Given the description of an element on the screen output the (x, y) to click on. 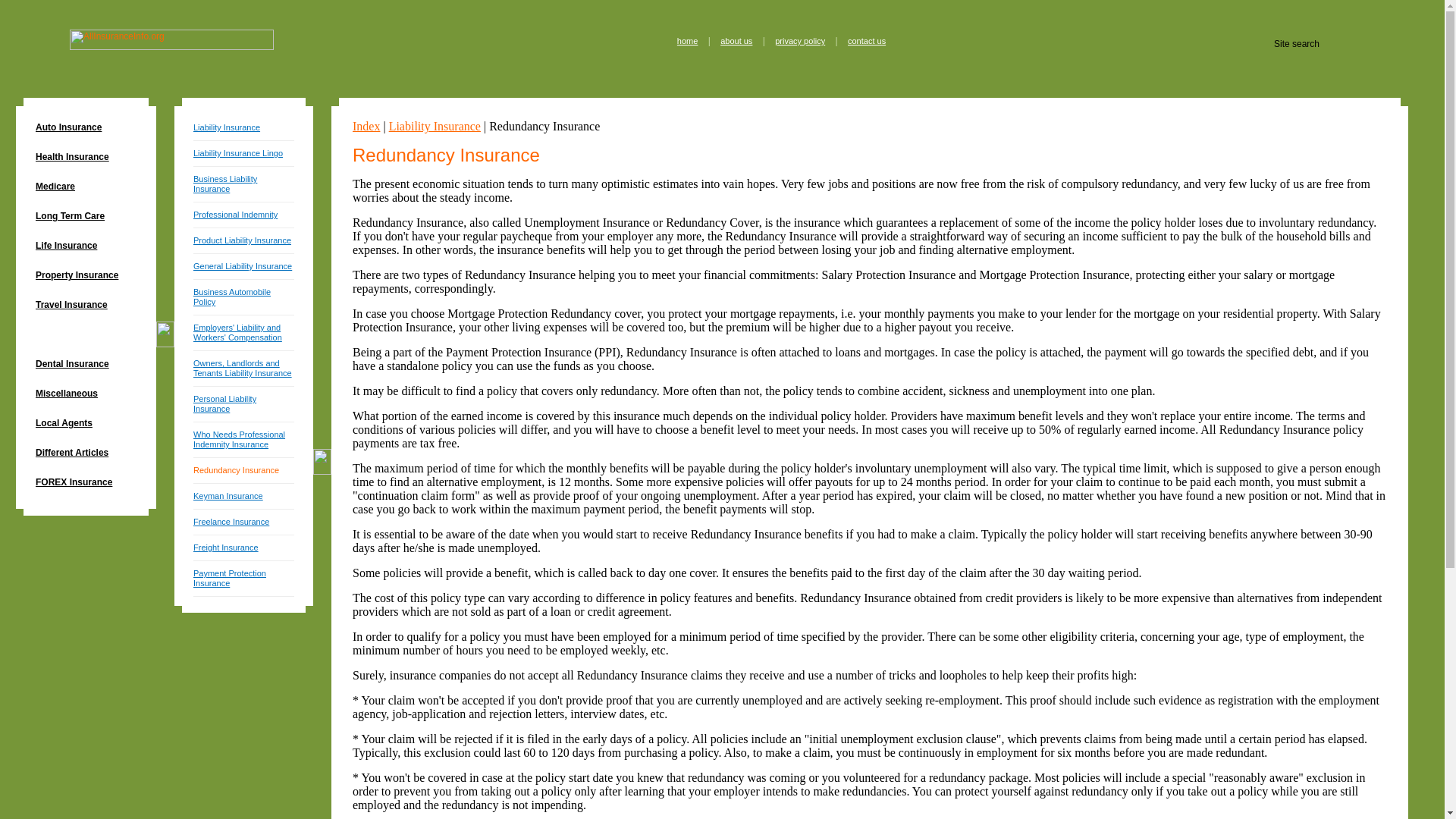
Business Automobile Policy (231, 296)
Miscellaneous (85, 394)
FOREX Insurance (85, 483)
Liability Insurance Lingo (237, 153)
home (687, 40)
Professional Indemnity (235, 214)
Employers' Liability and Workers' Compensation (237, 332)
Site search (1326, 43)
Personal Liability Insurance (224, 403)
Freight Insurance (226, 547)
